Given the description of an element on the screen output the (x, y) to click on. 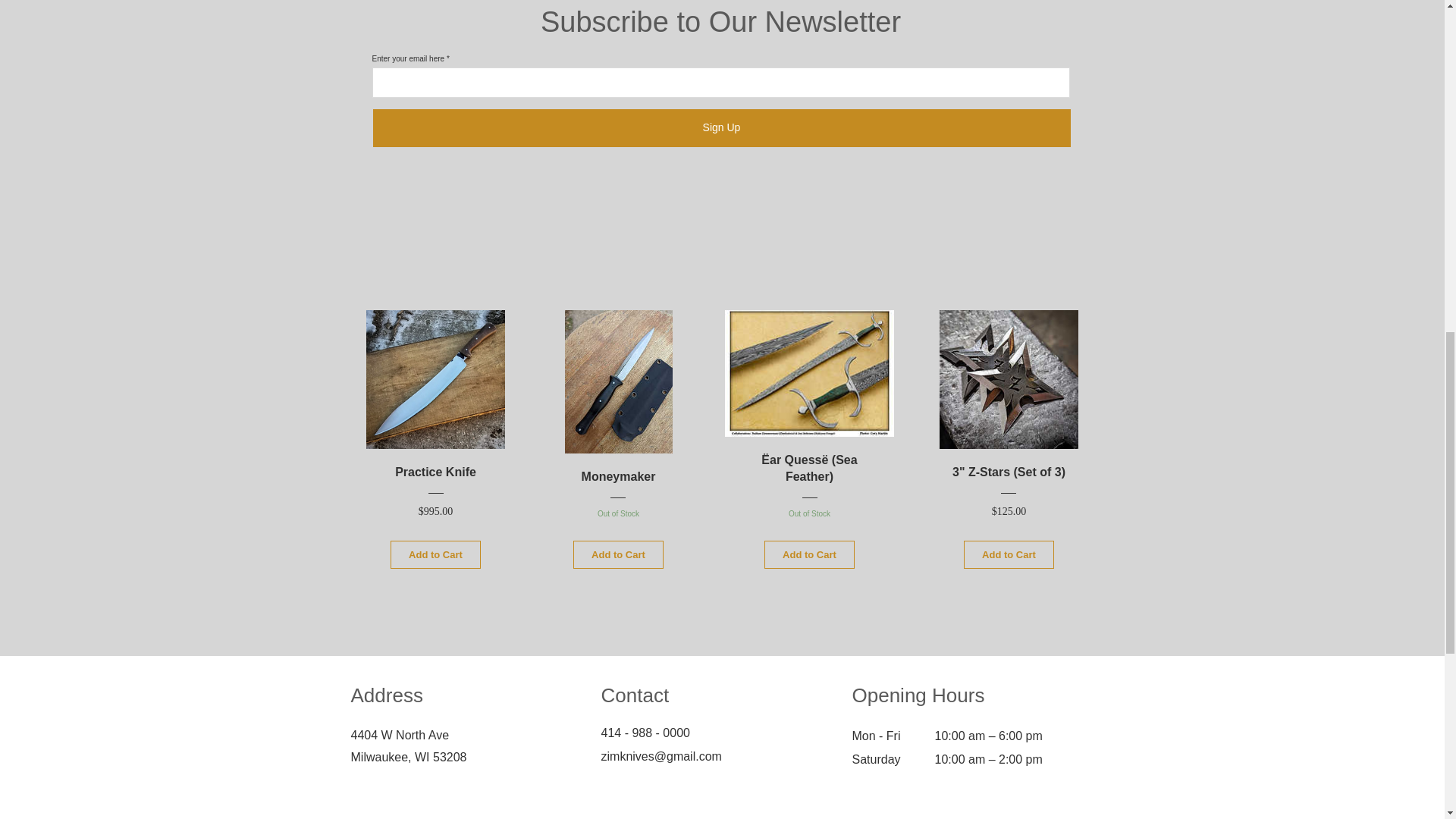
Add to Cart (435, 554)
Sign Up (721, 127)
Add to Cart (617, 554)
Add to Cart (618, 446)
Add to Cart (808, 554)
